Given the description of an element on the screen output the (x, y) to click on. 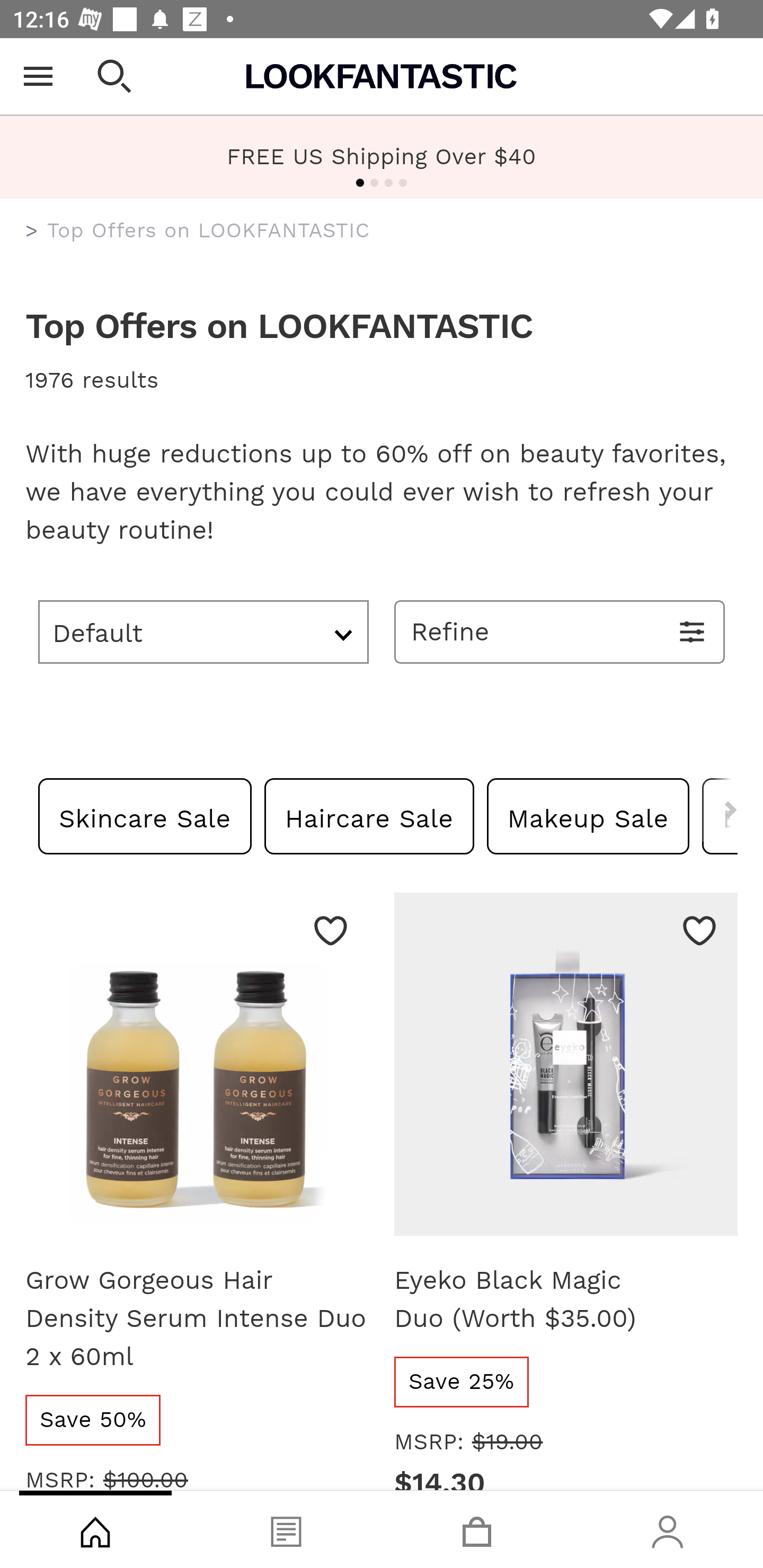
Open Menu (38, 75)
Open search (114, 75)
Lookfantastic USA (381, 75)
FREE US Shipping Over $40 (381, 157)
FREE US Shipping Over $40 (381, 155)
us.lookfantastic (32, 230)
Default (203, 631)
Refine (559, 631)
Shop Skincare Sale (145, 815)
Shop Haircare Sale (369, 815)
Shop Makeup Sale (587, 815)
Eyeko Black Magic Duo (Worth $35.00) (565, 1070)
Save to Wishlist (330, 930)
Save to Wishlist (698, 930)
Eyeko Black Magic Duo (Worth $35.00) (565, 1299)
Save 25%, read more (461, 1382)
Save 50%, read more (93, 1419)
Shop, tab, 1 of 4 (95, 1529)
Blog, tab, 2 of 4 (285, 1529)
Basket, tab, 3 of 4 (476, 1529)
Account, tab, 4 of 4 (667, 1529)
